Given the description of an element on the screen output the (x, y) to click on. 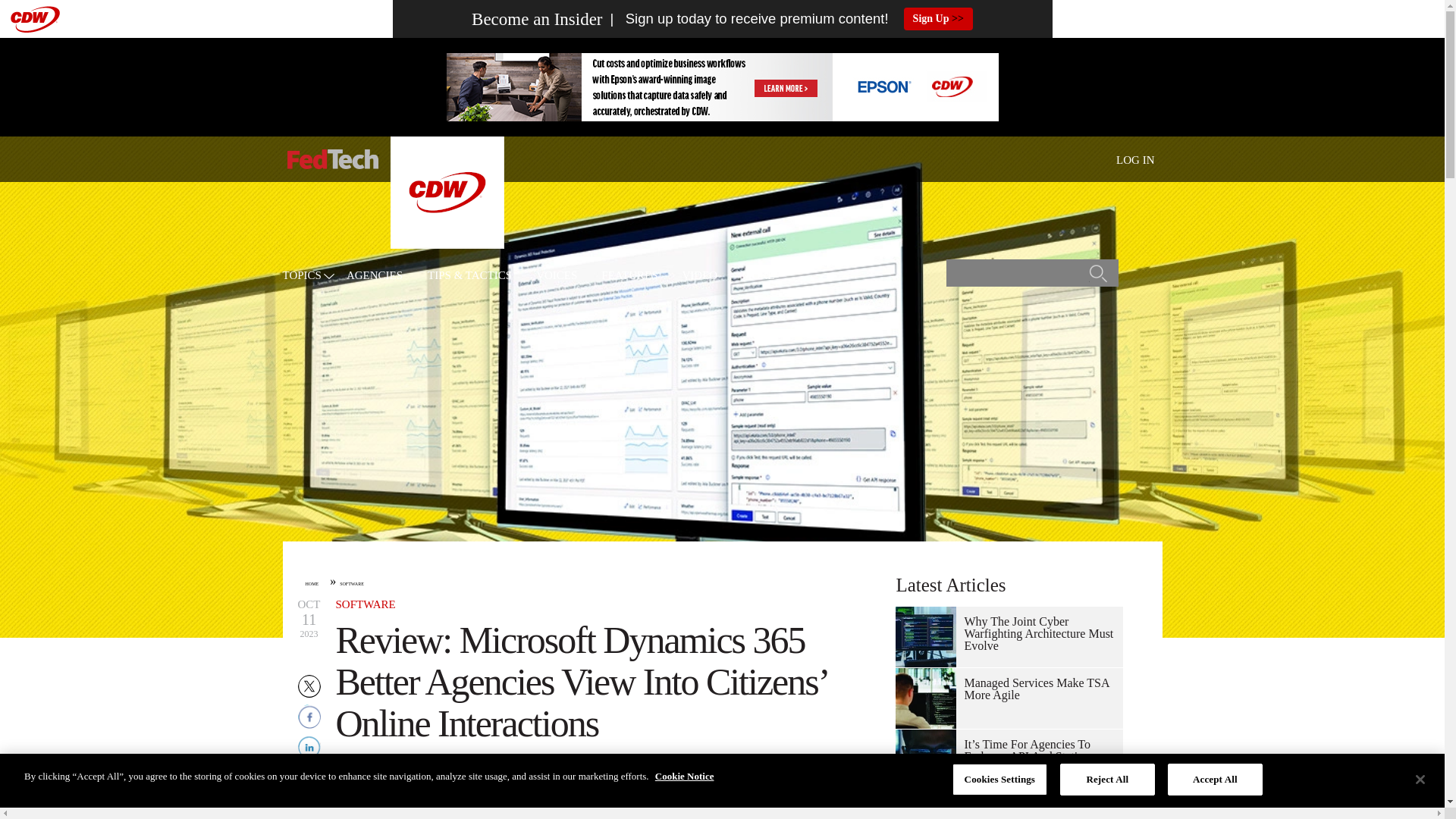
VOICES (555, 275)
FEATURES (629, 275)
Become an Insider (536, 18)
Home (332, 158)
VIDEO (699, 275)
AGENCIES (374, 275)
Sign up today to receive premium content! (745, 19)
advertisement (721, 87)
Sign Up (938, 18)
User menu (1135, 160)
CDW (446, 244)
LOG IN (1135, 159)
